Given the description of an element on the screen output the (x, y) to click on. 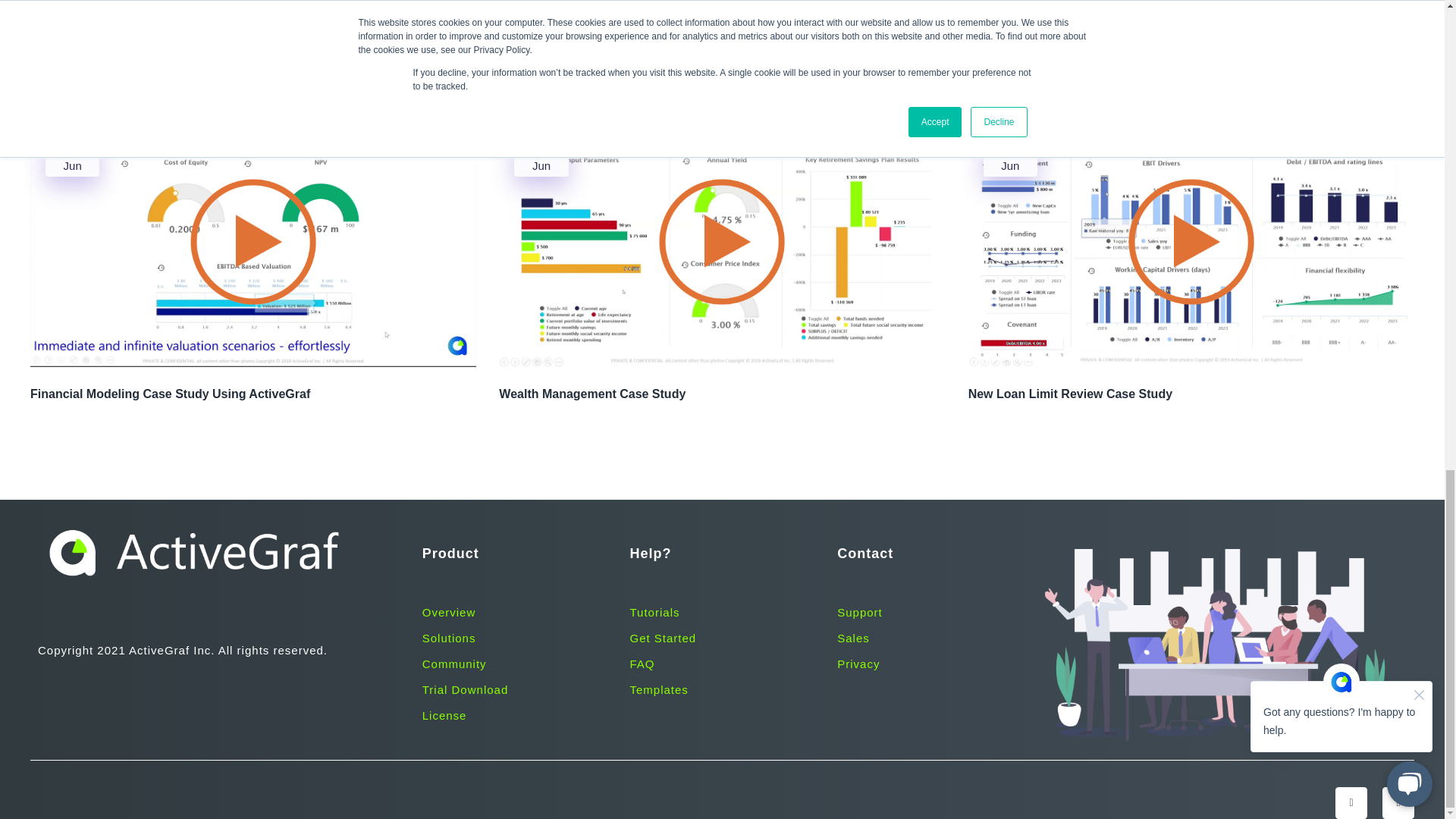
Wealth Management Case Study (833, 304)
Financial Modeling Case Study Using ActiveGraf (364, 304)
New Loan Limit Review Case Study (1190, 393)
New Loan Limit Review Case Study (1190, 393)
Financial Modeling Case Study Using ActiveGraf (253, 393)
Wealth Management Case Study (721, 393)
Wealth Management Case Study (721, 393)
Financial Modeling Case Study Using ActiveGraf (253, 393)
Solutions (449, 637)
Trial Download (465, 689)
Community (454, 663)
Overview (449, 612)
